Given the description of an element on the screen output the (x, y) to click on. 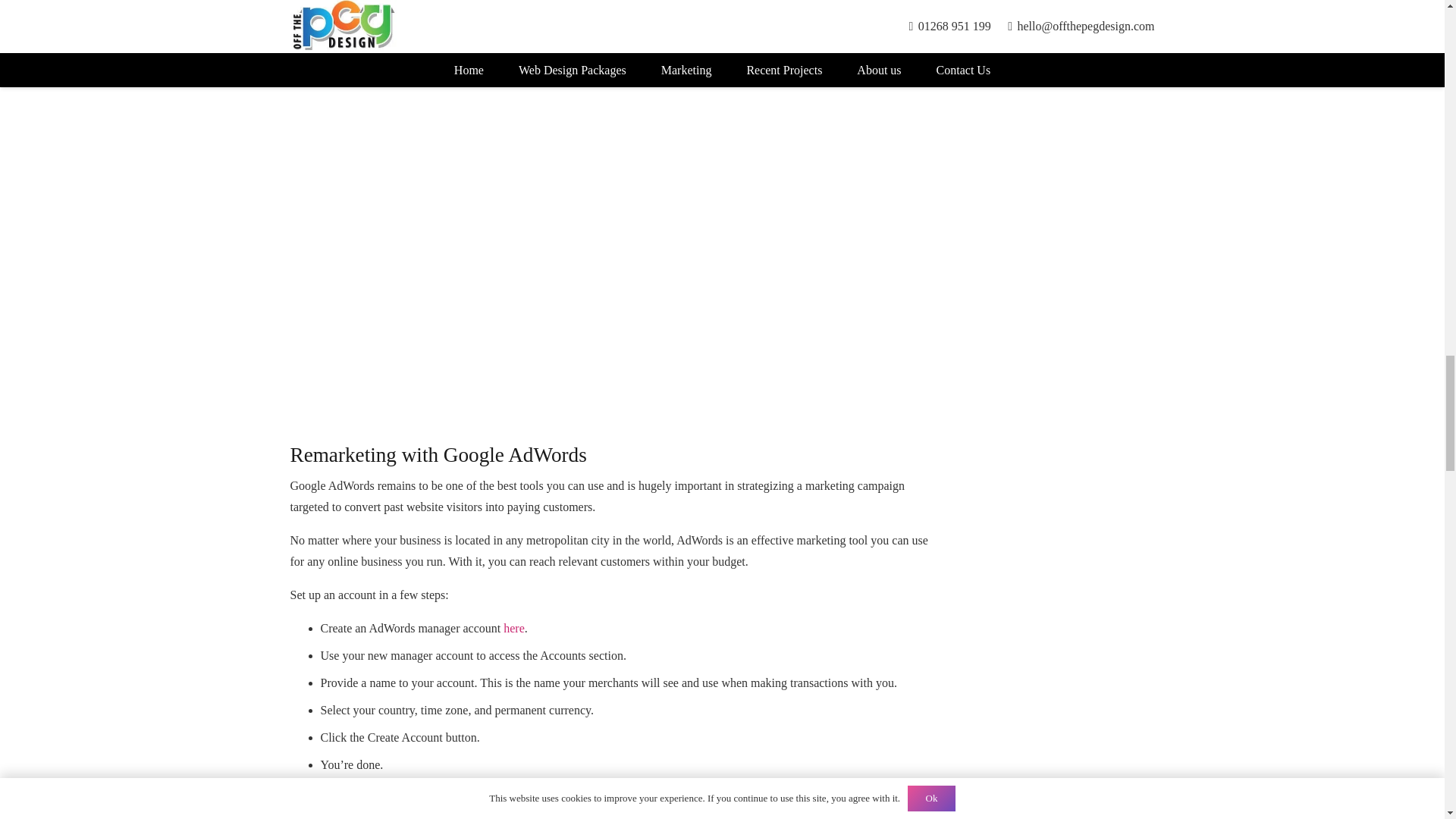
here (513, 627)
